Given the description of an element on the screen output the (x, y) to click on. 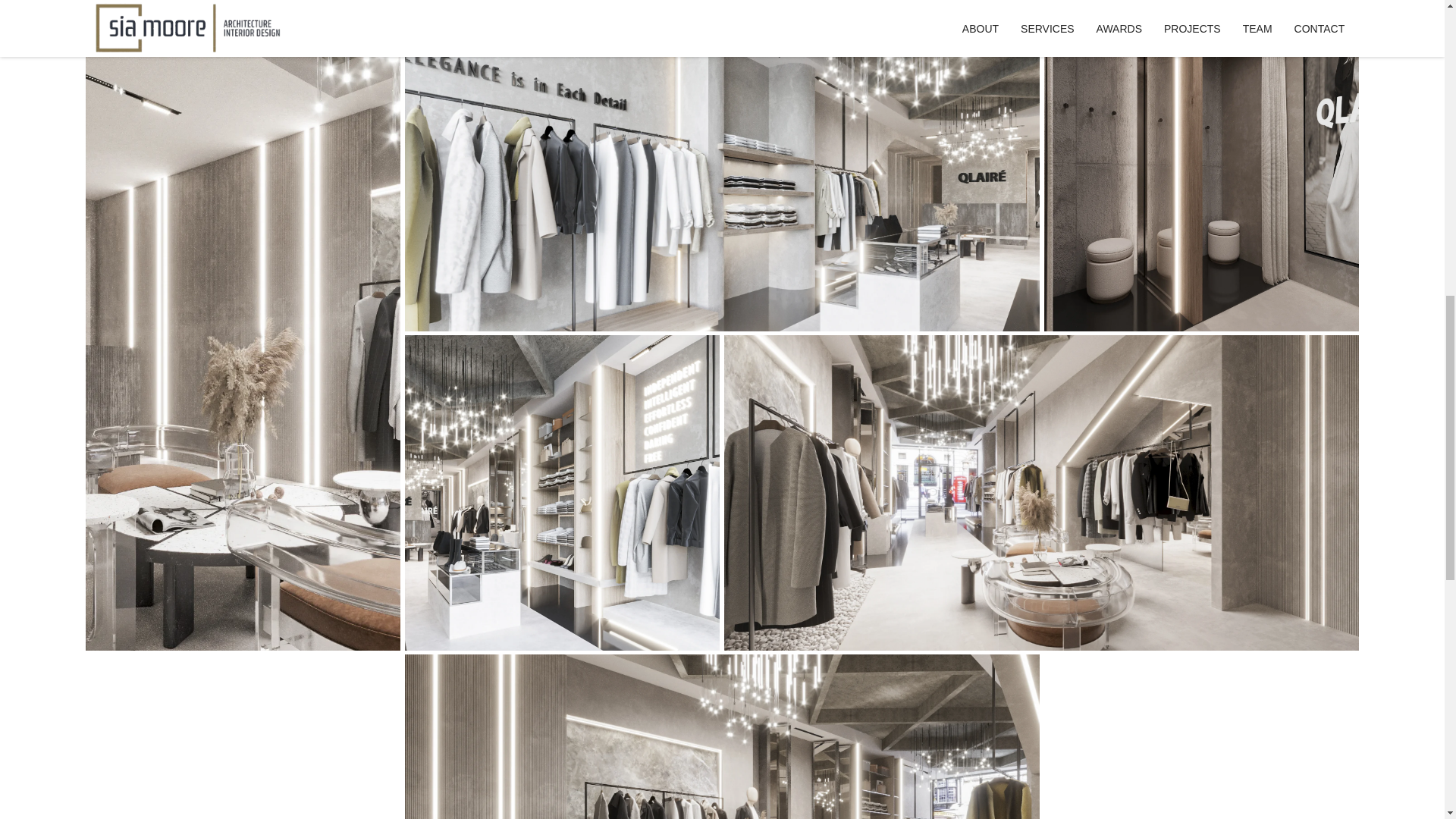
4 (545, 477)
6 (689, 729)
3 (1184, 157)
